Given the description of an element on the screen output the (x, y) to click on. 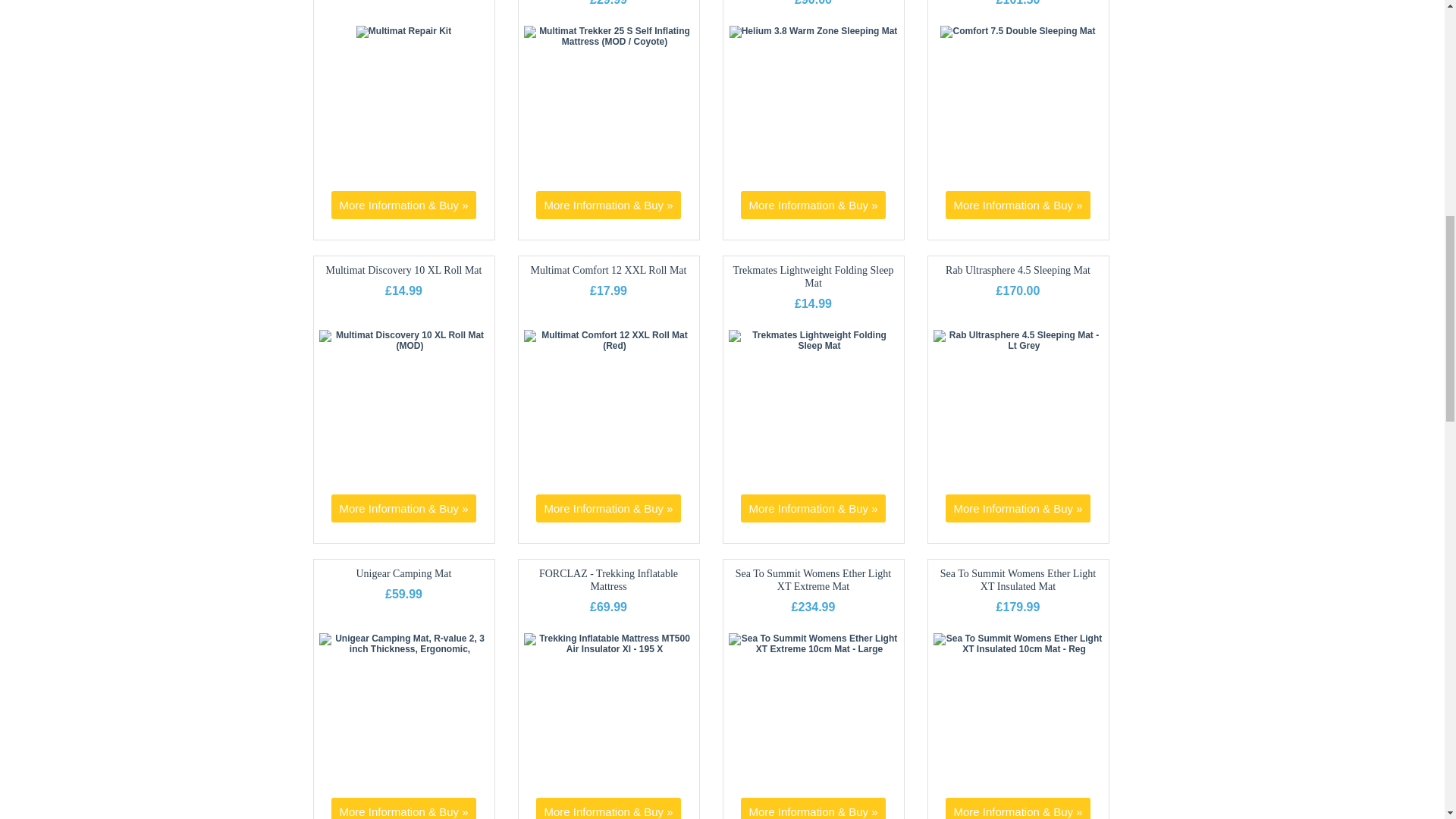
More info on Multimat Repair Kit (403, 30)
More info on Multimat Repair Kit (403, 204)
More info on Multimat Trekker 25 S Self Inflating Mattress  (609, 41)
More info on Multimat Trekker 25 S Self Inflating Mattress  (607, 204)
